Given the description of an element on the screen output the (x, y) to click on. 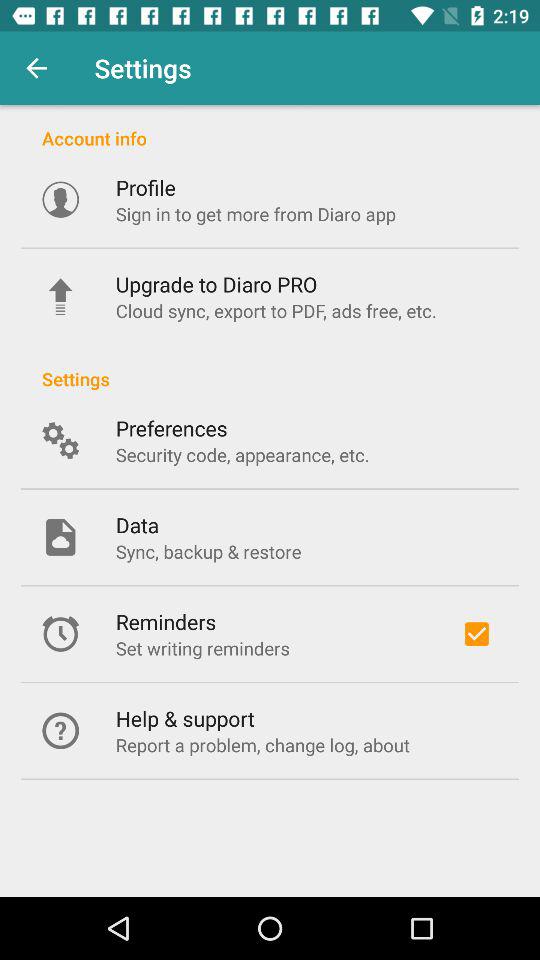
choose help & support item (184, 718)
